Given the description of an element on the screen output the (x, y) to click on. 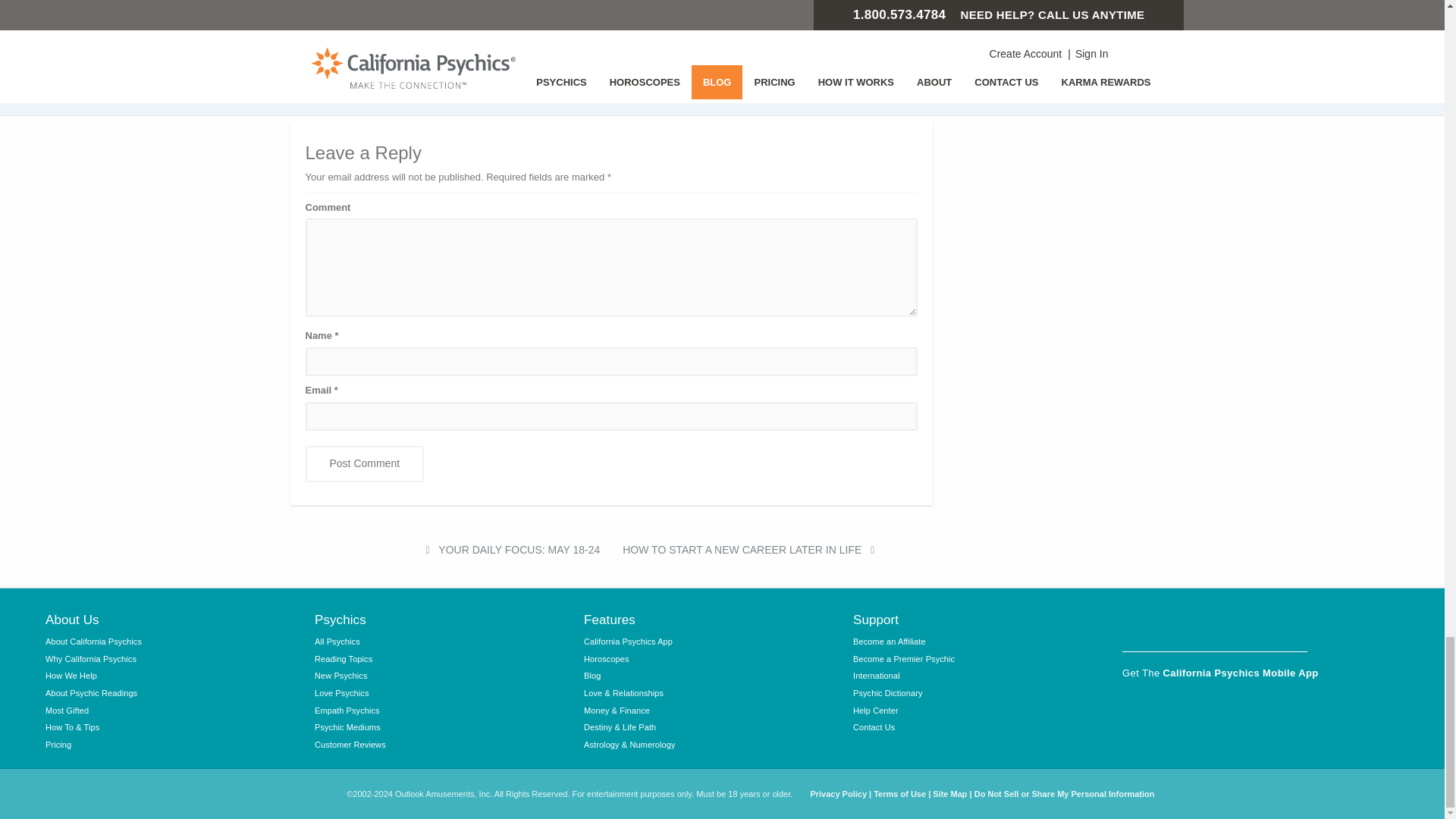
Go to Facebook (1136, 626)
Go to Twitter (1213, 626)
Go to Instagram (1176, 626)
Go to Pinterest (1292, 626)
Post Comment (363, 463)
Go to YouTube (1254, 626)
